Given the description of an element on the screen output the (x, y) to click on. 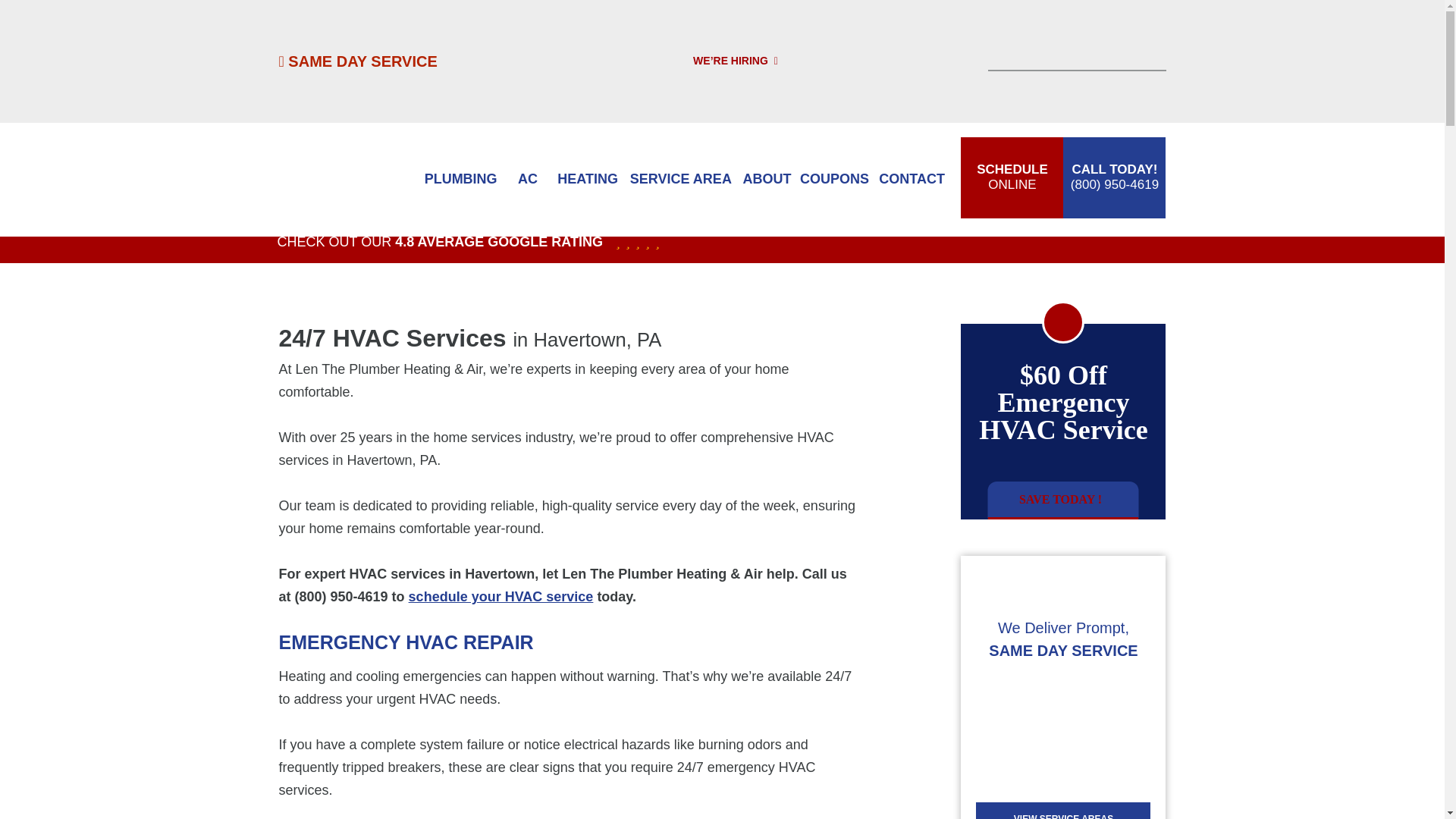
Same Day Service  (358, 61)
Len The Plumber (343, 178)
PLUMBING (358, 61)
Save Today ! (460, 179)
Read our reviews (1063, 500)
Read our reviews (631, 242)
